Given the description of an element on the screen output the (x, y) to click on. 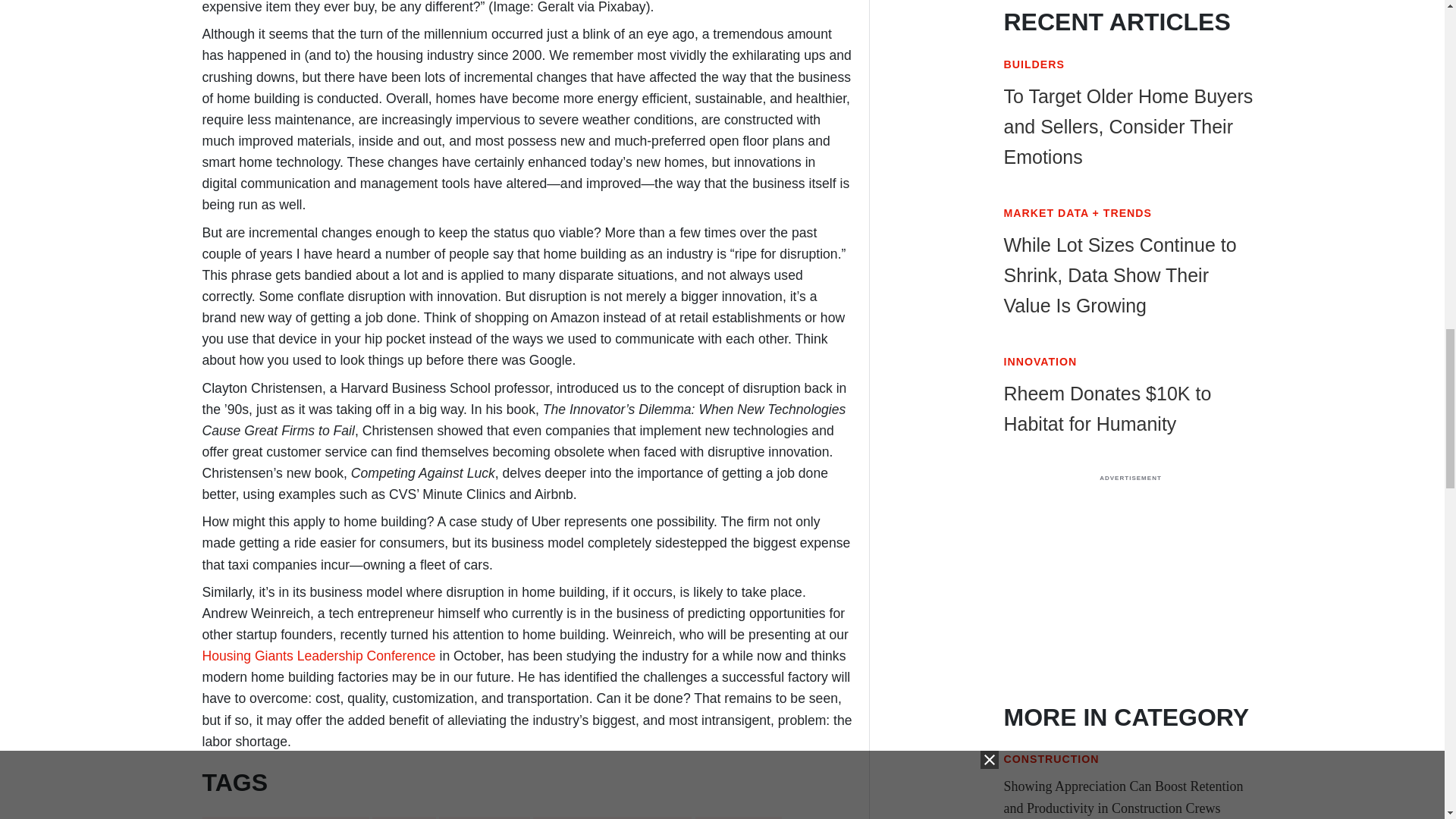
Housing Giants Leadership Conference (318, 655)
true (1130, 585)
